Given the description of an element on the screen output the (x, y) to click on. 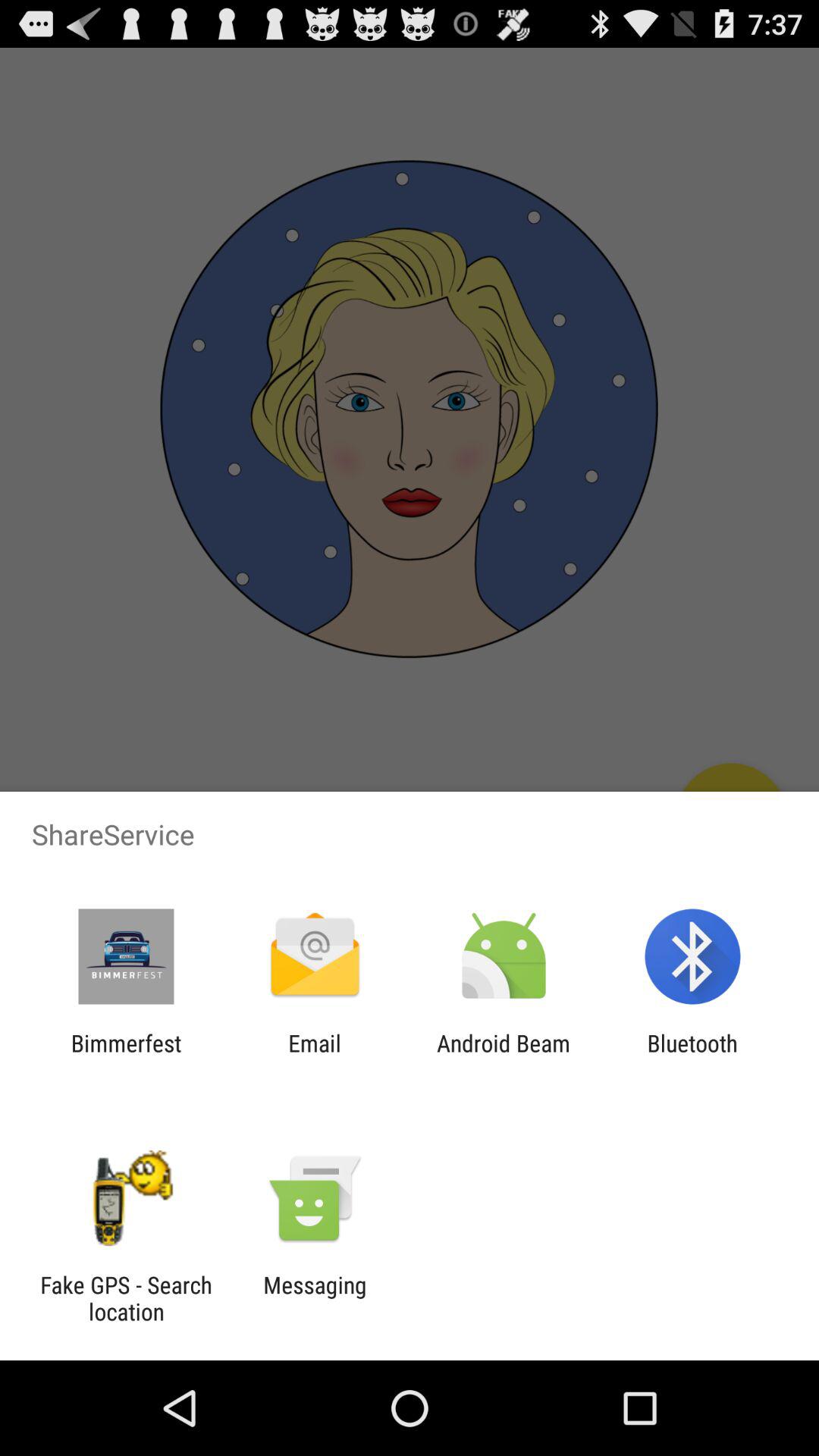
tap the icon next to the email app (503, 1056)
